Given the description of an element on the screen output the (x, y) to click on. 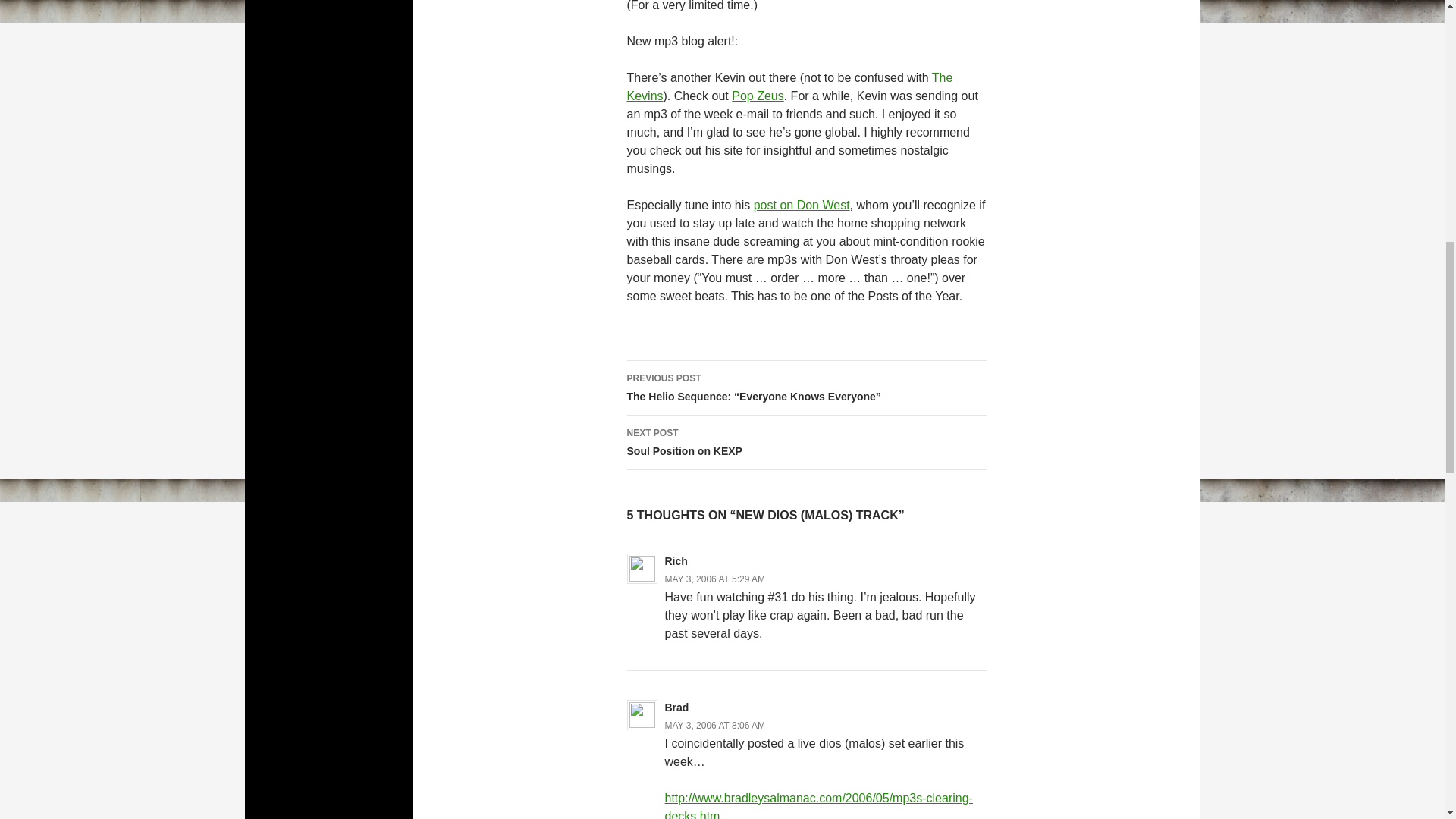
Rich (675, 561)
MAY 3, 2006 AT 5:29 AM (805, 442)
The Kevins (714, 579)
post on Don West (789, 86)
Brad (802, 205)
MAY 3, 2006 AT 8:06 AM (675, 707)
Pop Zeus (714, 725)
